Given the description of an element on the screen output the (x, y) to click on. 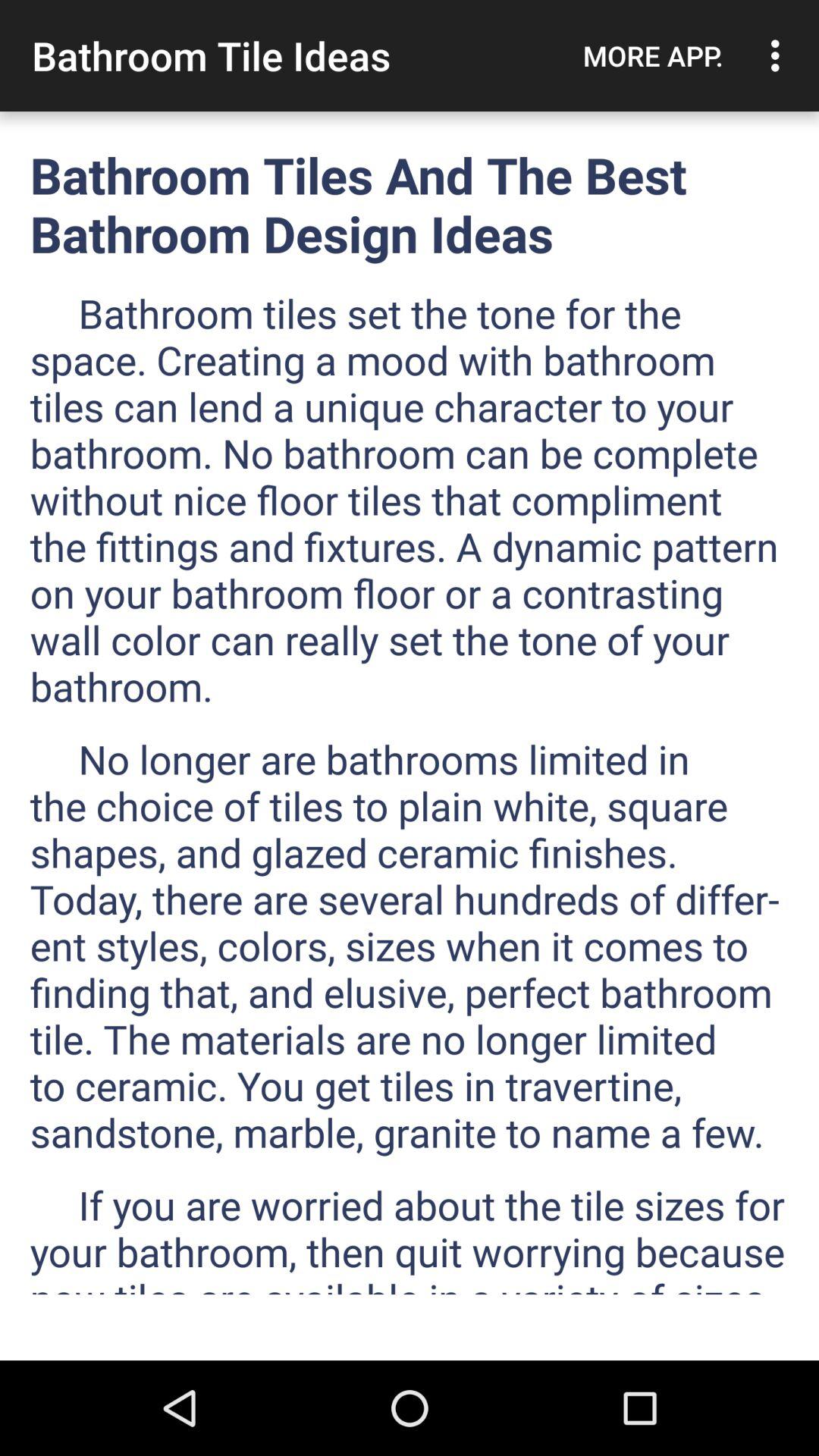
launch app next to the bathroom tile ideas icon (653, 55)
